Given the description of an element on the screen output the (x, y) to click on. 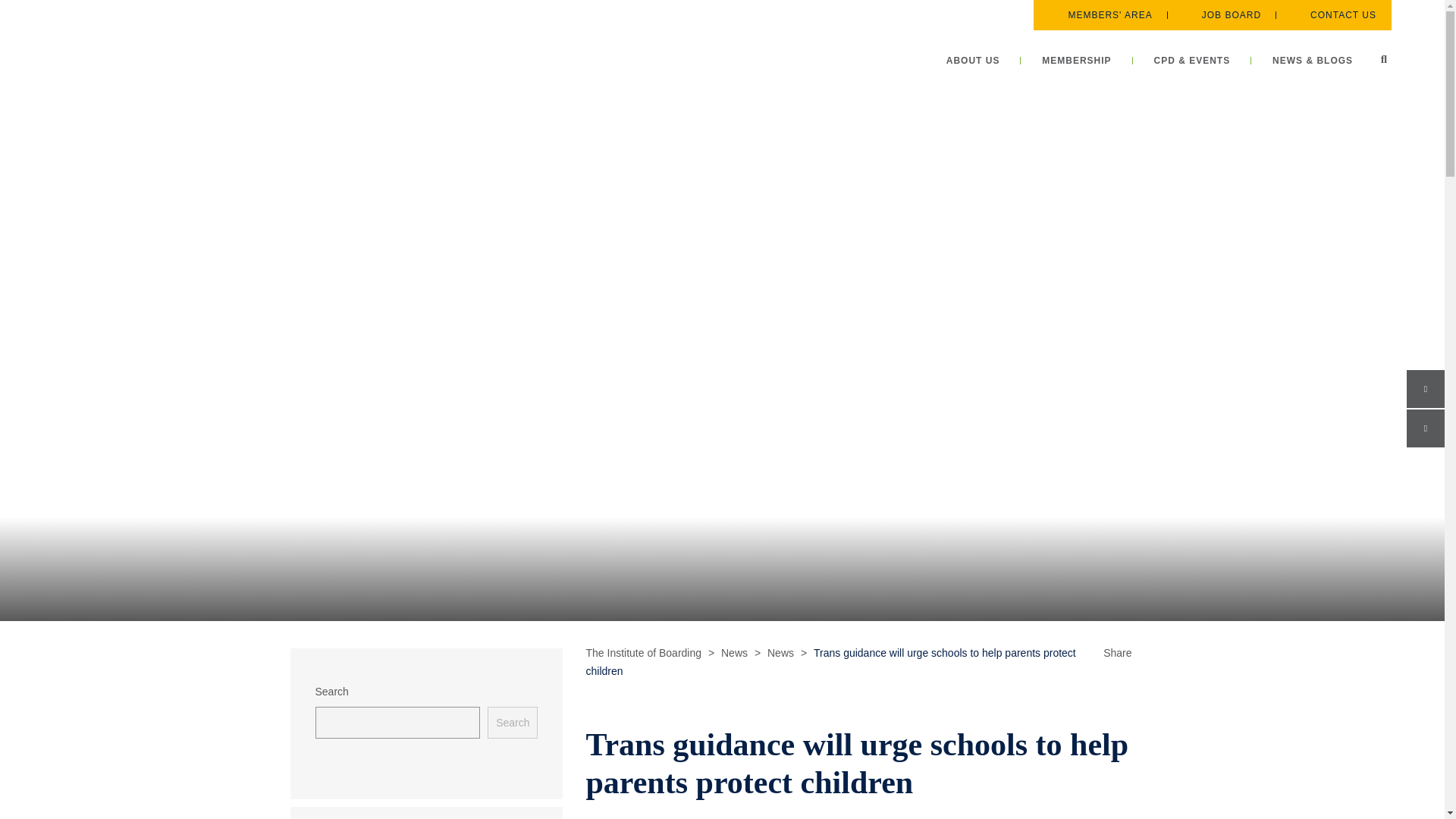
Go to News. (734, 653)
JOB BOARD (1221, 15)
Go to The Institute of Boarding. (643, 653)
Go to the News Category archives. (780, 653)
CONTACT US (1333, 15)
MEMBERS' AREA (1099, 15)
MEMBERSHIP (1076, 60)
ABOUT US (973, 60)
